Given the description of an element on the screen output the (x, y) to click on. 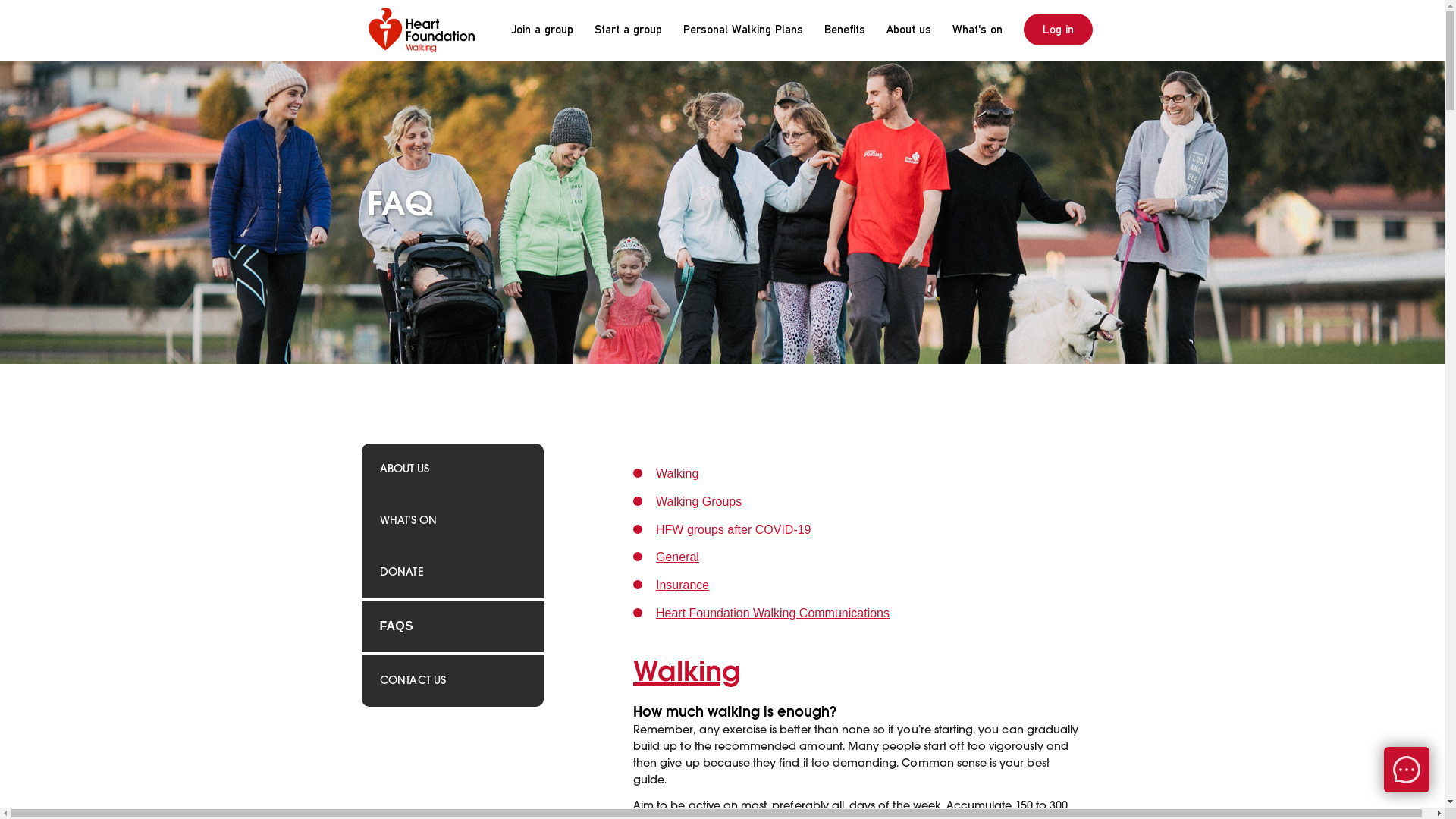
Start a group Element type: text (628, 29)
About us Element type: text (907, 29)
Personal Walking Plans Element type: text (742, 29)
Join a group Element type: text (541, 29)
Walking Element type: text (676, 473)
DONATE Element type: text (401, 572)
Chat with bot Element type: hover (1406, 769)
W Element type: text (661, 501)
Walking Element type: text (686, 670)
FAQS Element type: text (395, 625)
alking Groups Element type: text (704, 501)
Benefits Element type: text (843, 29)
HFW groups after COVID-19 Element type: text (733, 529)
What's on Element type: text (977, 29)
ABOUT US Element type: text (403, 469)
Log in Element type: text (1057, 29)
General Element type: text (677, 556)
Insurance Element type: text (682, 584)
CONTACT US Element type: text (412, 680)
WHAT'S ON Element type: text (407, 520)
Heart Foundation Walking Communications Element type: text (772, 612)
